Given the description of an element on the screen output the (x, y) to click on. 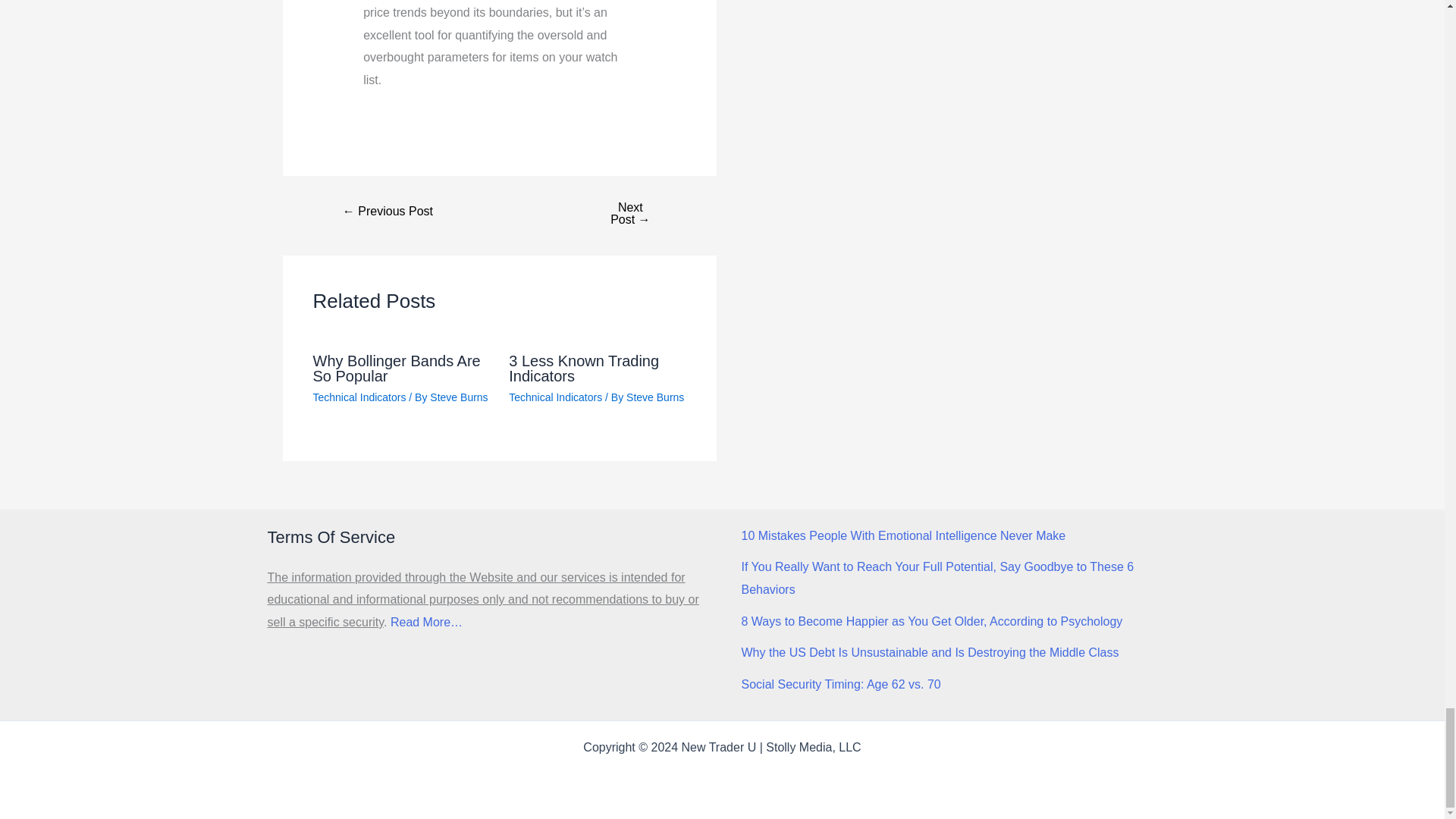
Understanding the Time Value of Money (387, 211)
Technical Indicators (555, 397)
Technical Indicators (359, 397)
View all posts by Steve Burns (458, 397)
View all posts by Steve Burns (655, 397)
Steve Burns (458, 397)
Steve Burns (655, 397)
Why Bollinger Bands Are So Popular (396, 368)
3 Less Known Trading Indicators (583, 368)
